Given the description of an element on the screen output the (x, y) to click on. 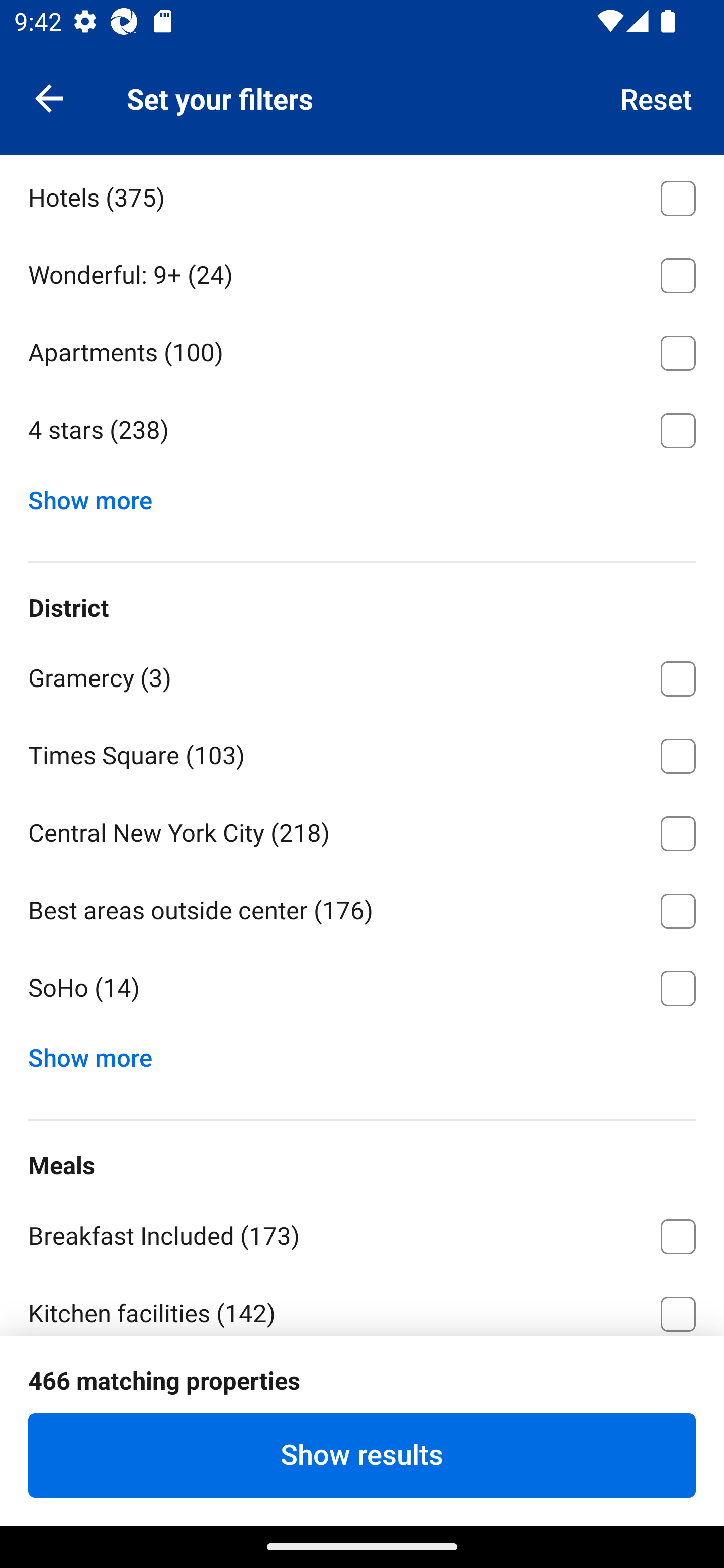
Navigate up (49, 97)
Reset (656, 97)
Hotels ⁦(375) (361, 194)
Wonderful: 9+ ⁦(24) (361, 271)
Apartments ⁦(100) (361, 349)
4 stars ⁦(238) (361, 430)
Show more (97, 496)
Gramercy ⁦(3) (361, 674)
Times Square ⁦(103) (361, 752)
Central New York City ⁦(218) (361, 829)
Best areas outside center ⁦(176) (361, 907)
SoHo ⁦(14) (361, 988)
Show more (97, 1053)
Breakfast Included ⁦(173) (361, 1232)
Kitchen facilities ⁦(142) (361, 1303)
Show results (361, 1454)
